Given the description of an element on the screen output the (x, y) to click on. 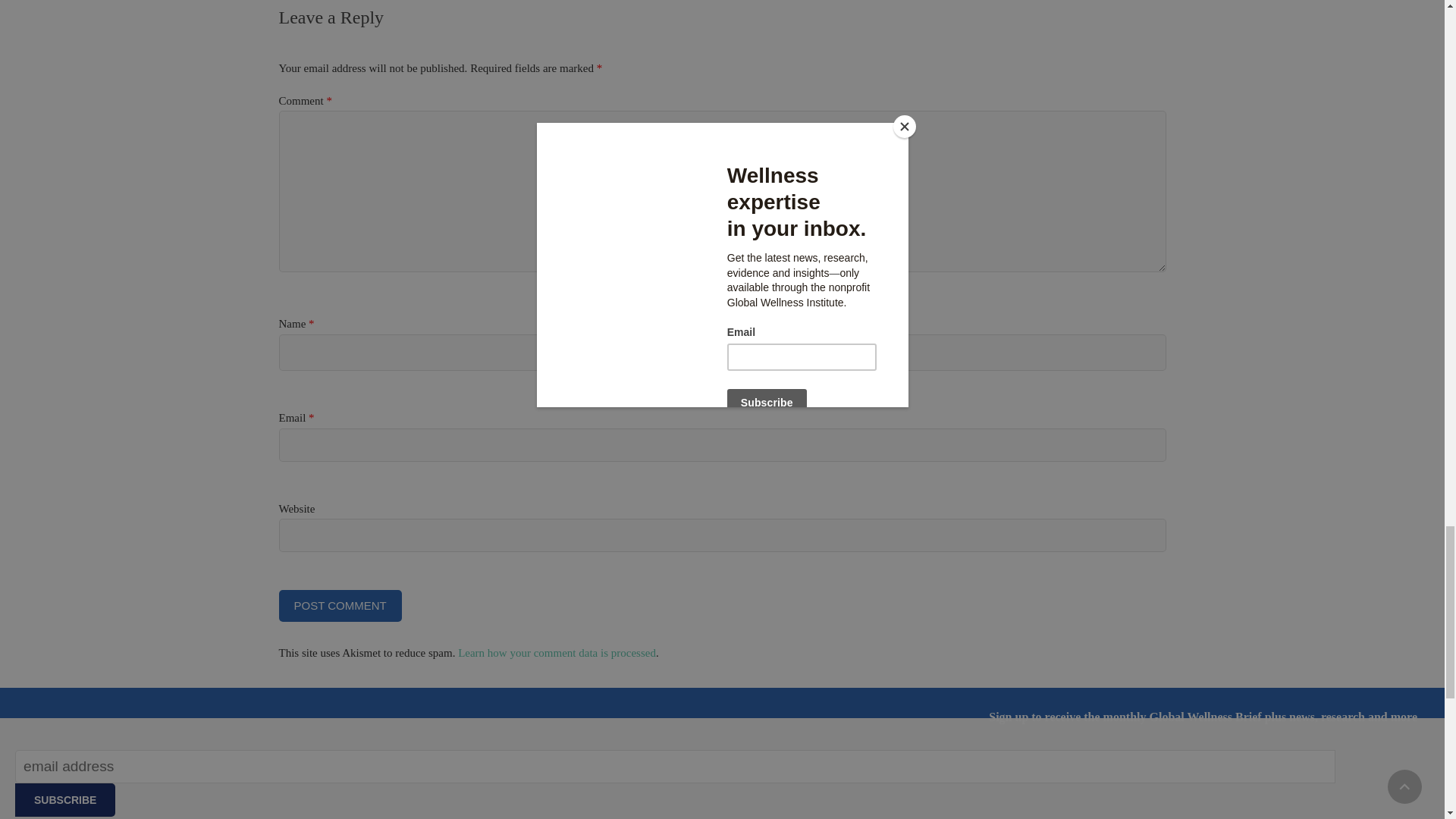
Post Comment (340, 605)
